Given the description of an element on the screen output the (x, y) to click on. 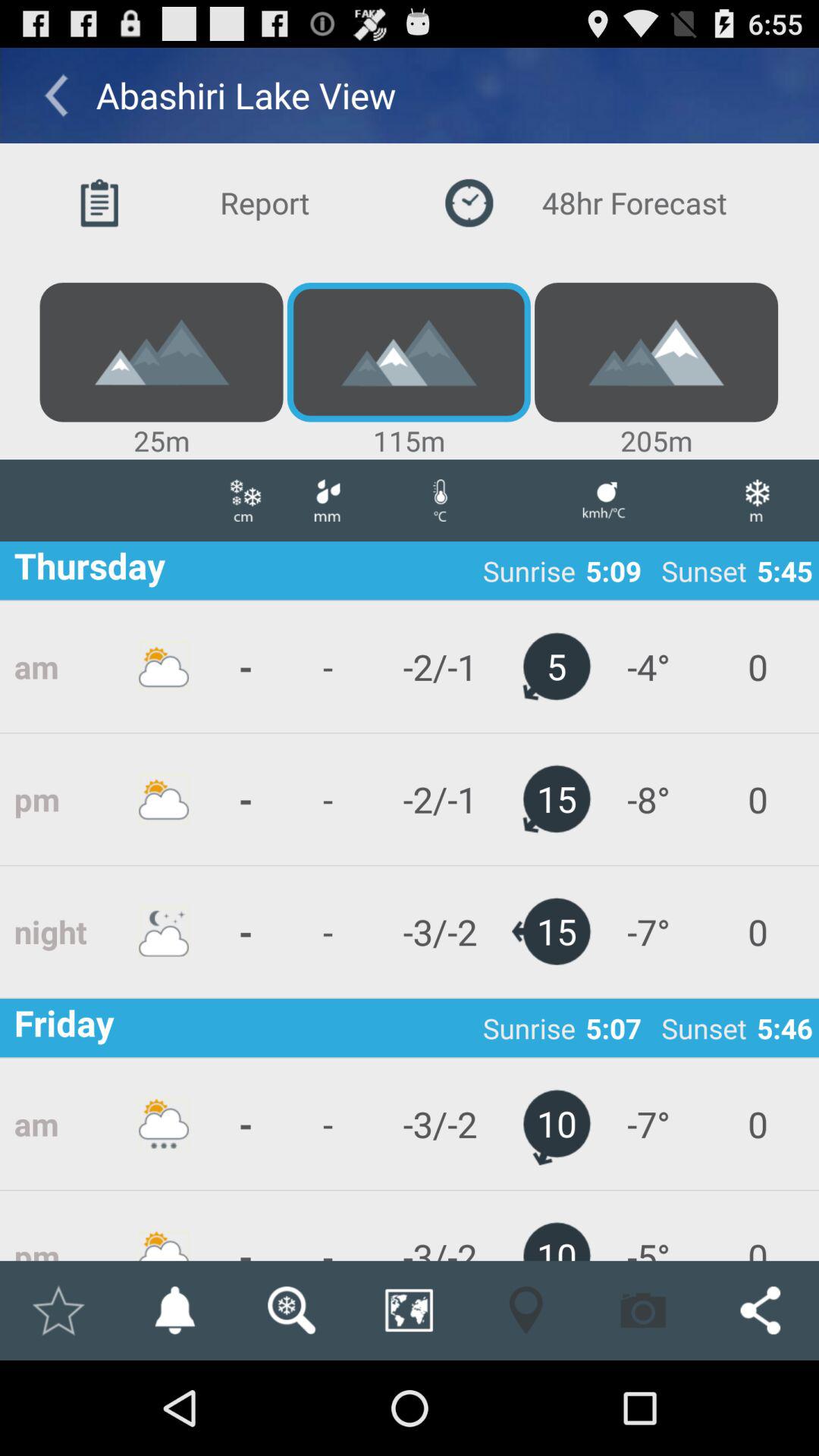
launch the app next to the - icon (327, 799)
